Given the description of an element on the screen output the (x, y) to click on. 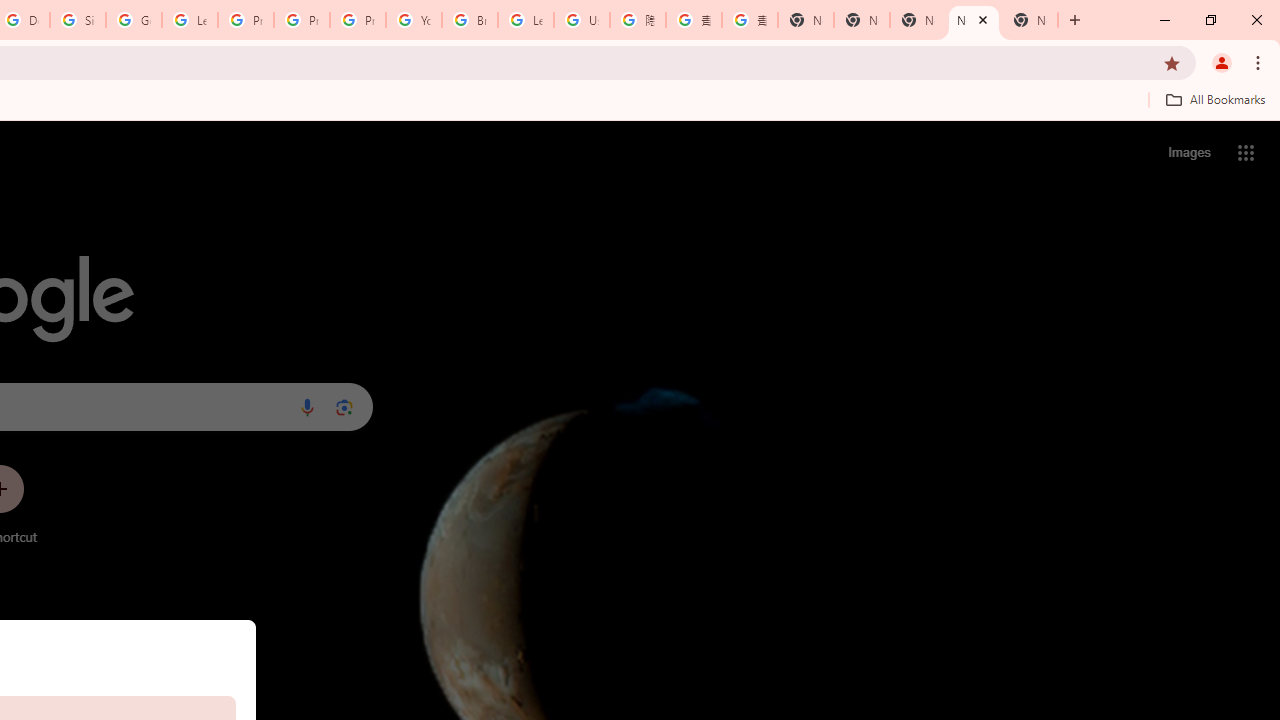
Privacy Help Center - Policies Help (245, 20)
Privacy Help Center - Policies Help (301, 20)
